Given the description of an element on the screen output the (x, y) to click on. 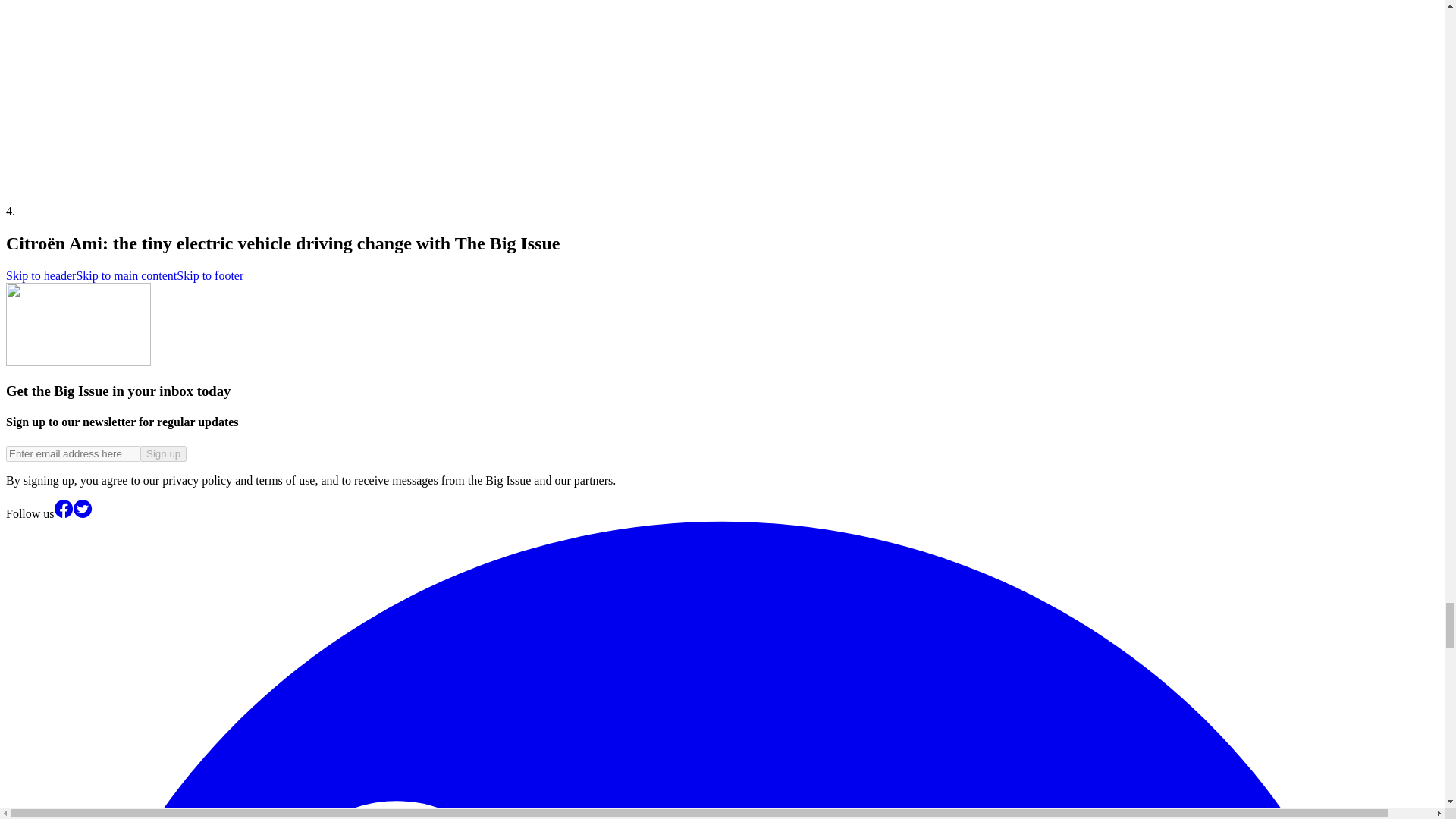
Input field (72, 453)
Button (162, 453)
